Given the description of an element on the screen output the (x, y) to click on. 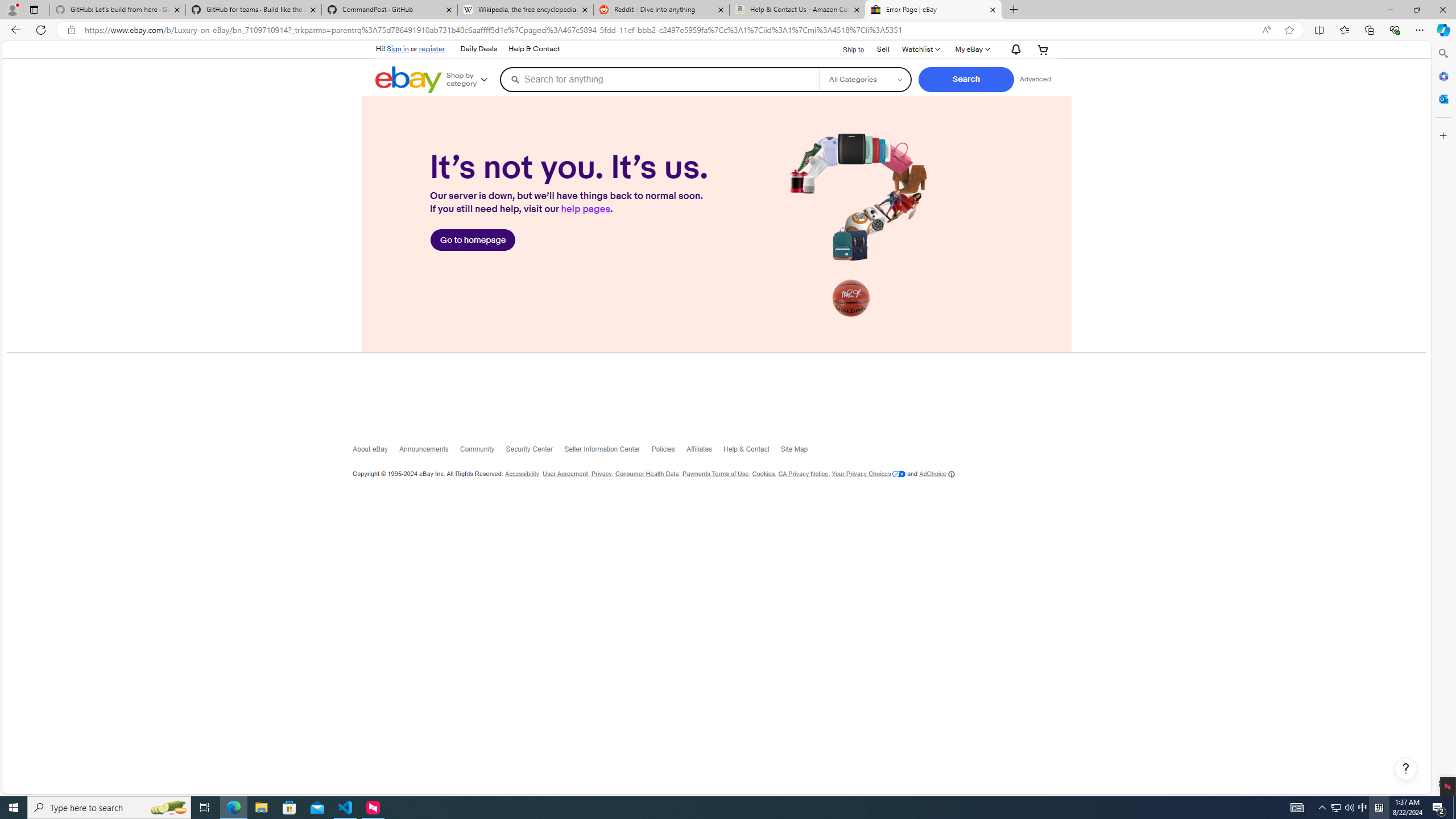
Daily Deals (478, 49)
register (432, 48)
eBay Home (408, 79)
Sell (882, 49)
Announcements (429, 451)
